Given the description of an element on the screen output the (x, y) to click on. 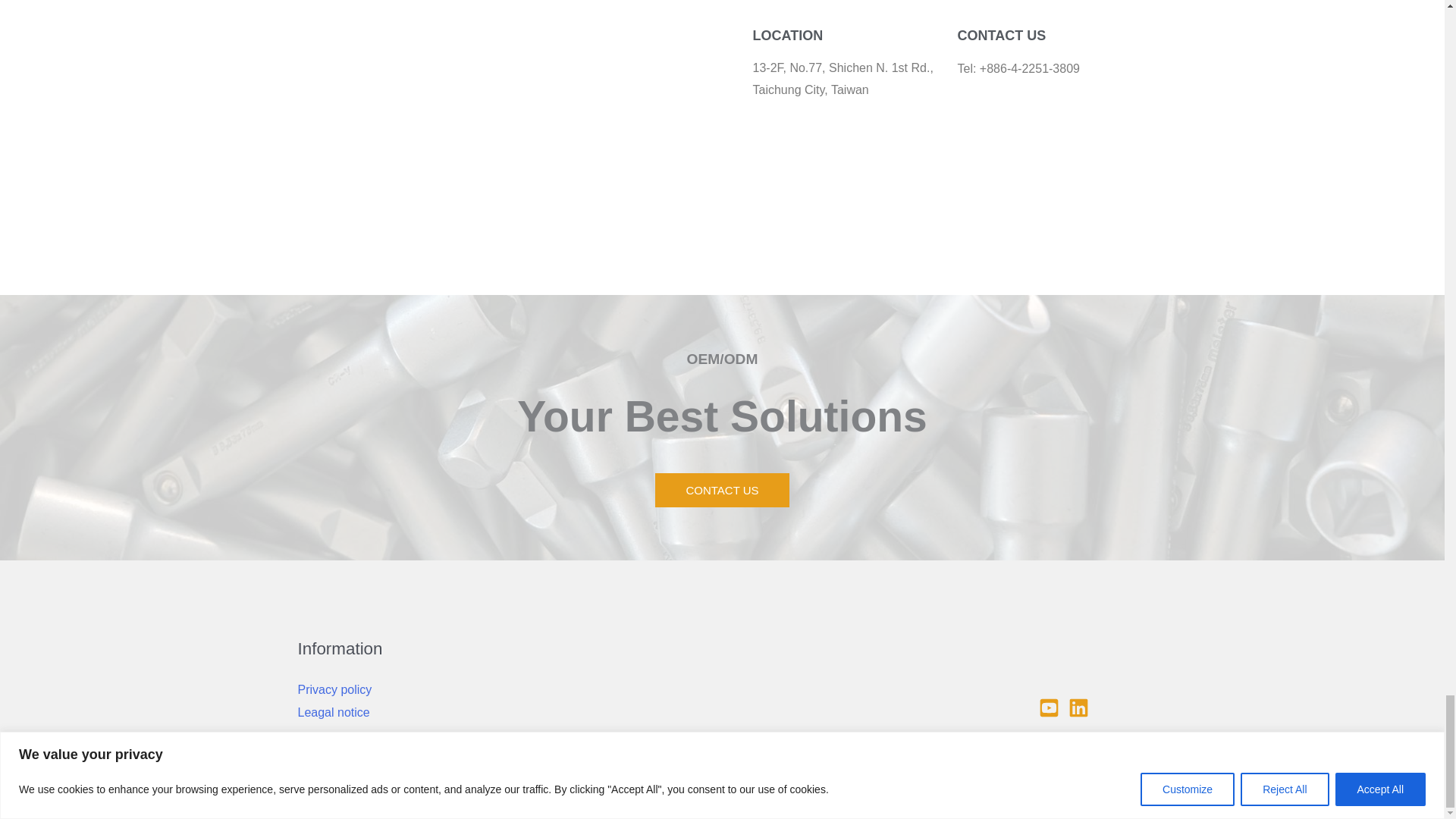
Privacy policy (334, 689)
CONTACT US (722, 489)
